Given the description of an element on the screen output the (x, y) to click on. 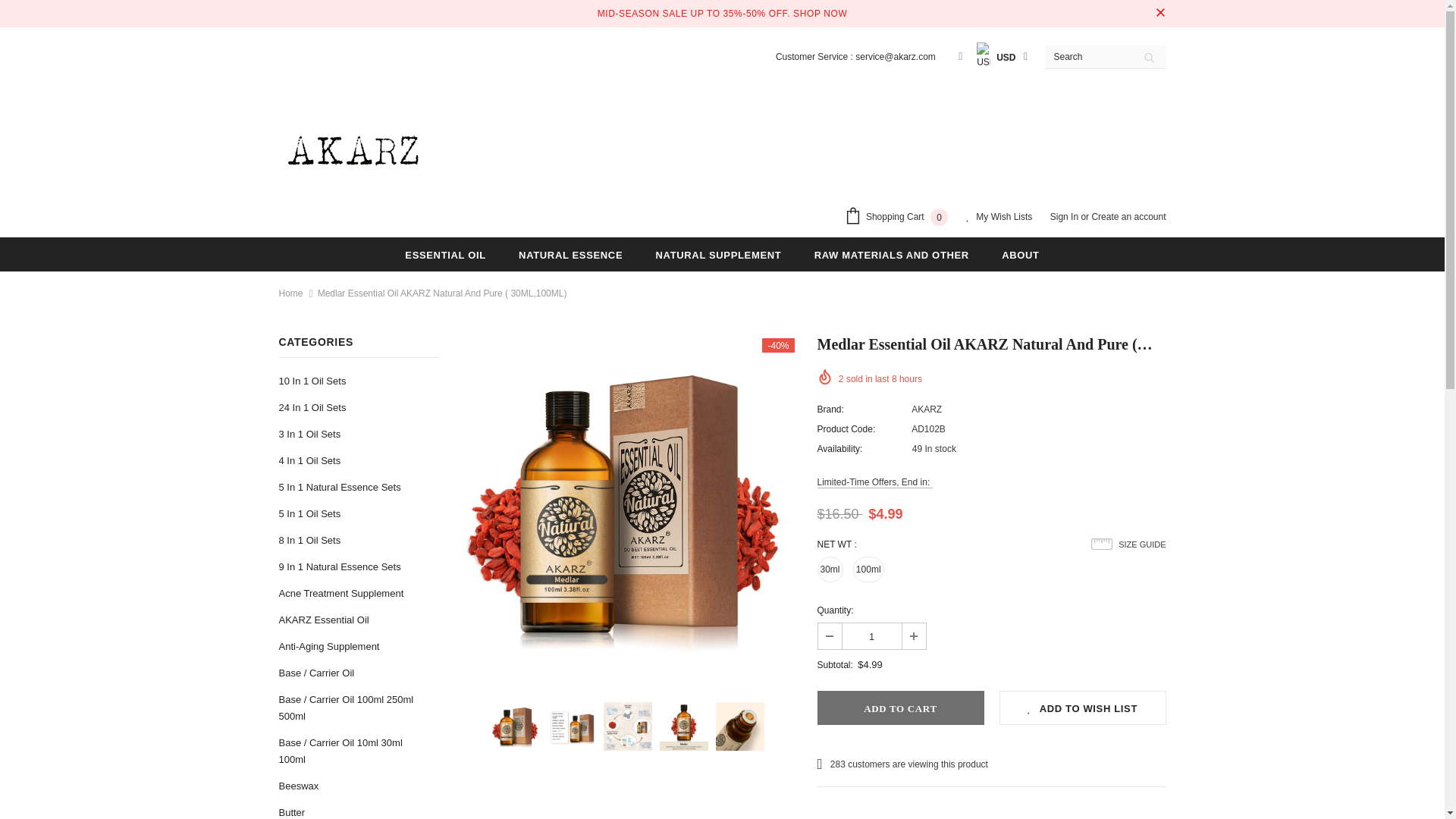
Create an account (1128, 216)
Add to cart (900, 707)
Sign In (1065, 216)
SHOP NOW (820, 13)
1 (871, 636)
Shopping Cart 0 (899, 218)
close (1160, 13)
ESSENTIAL OIL (444, 254)
My Wish Lists (999, 218)
